Given the description of an element on the screen output the (x, y) to click on. 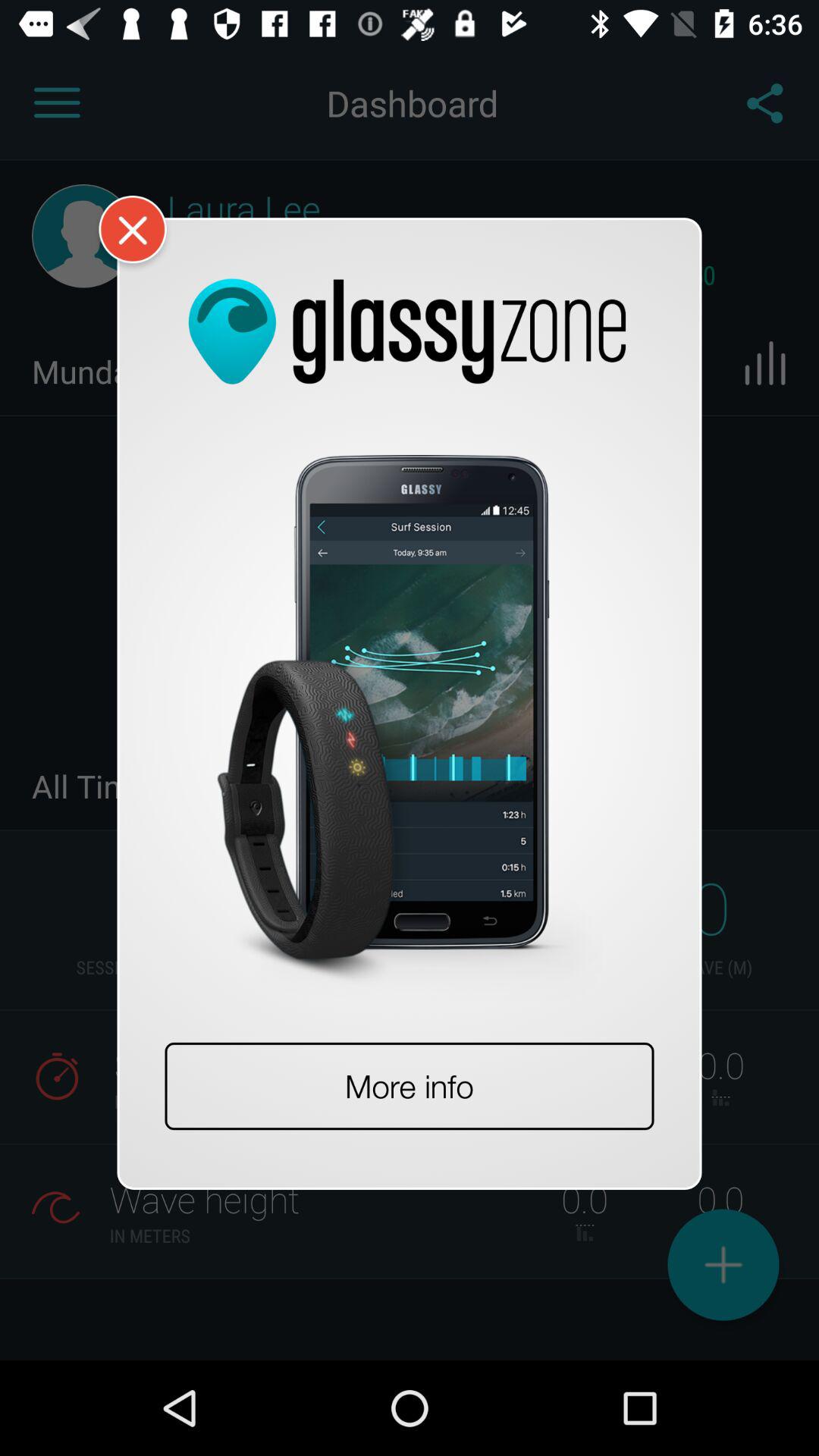
swipe to the more info icon (409, 1086)
